Given the description of an element on the screen output the (x, y) to click on. 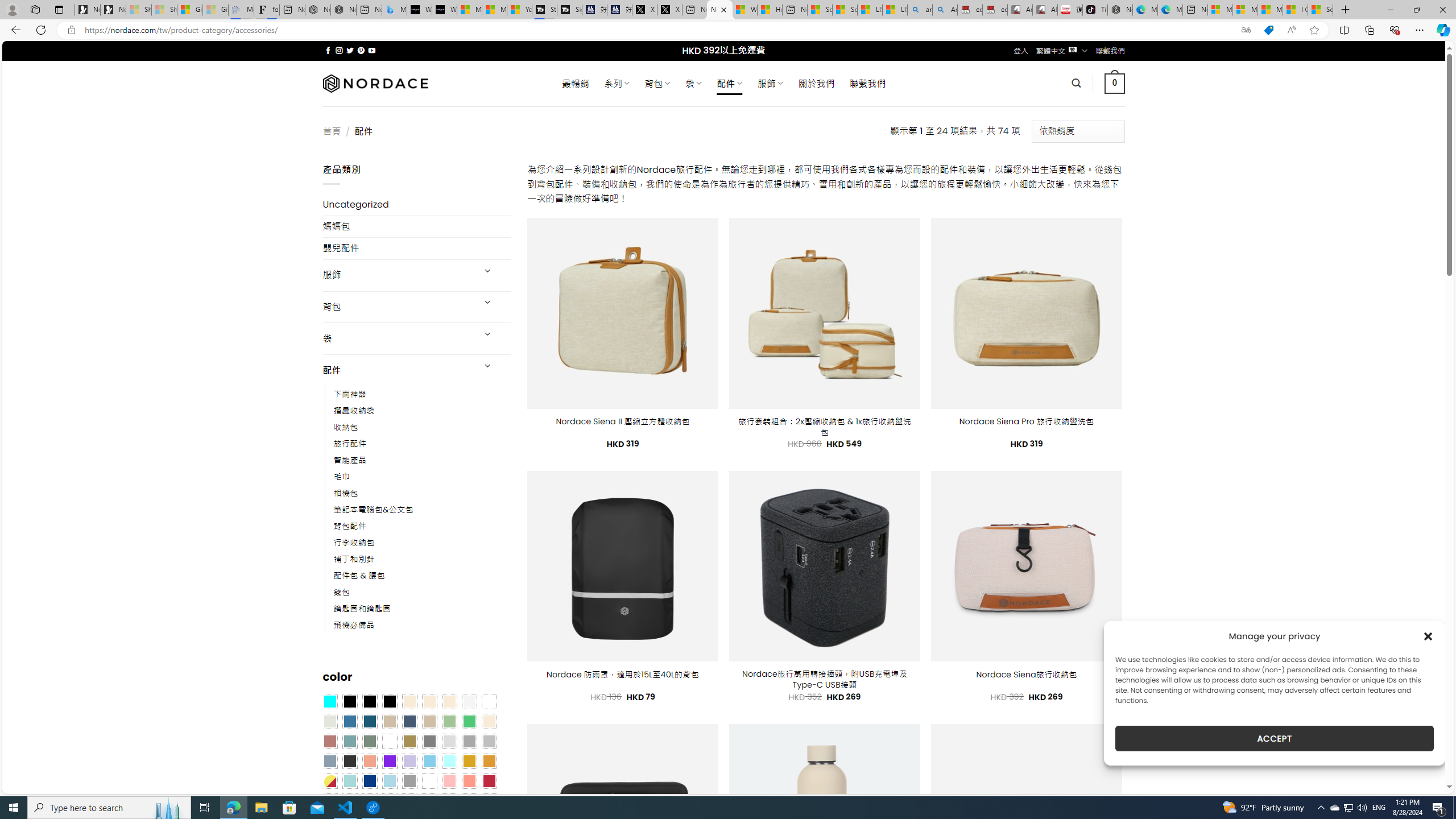
Uncategorized (416, 204)
